Given the description of an element on the screen output the (x, y) to click on. 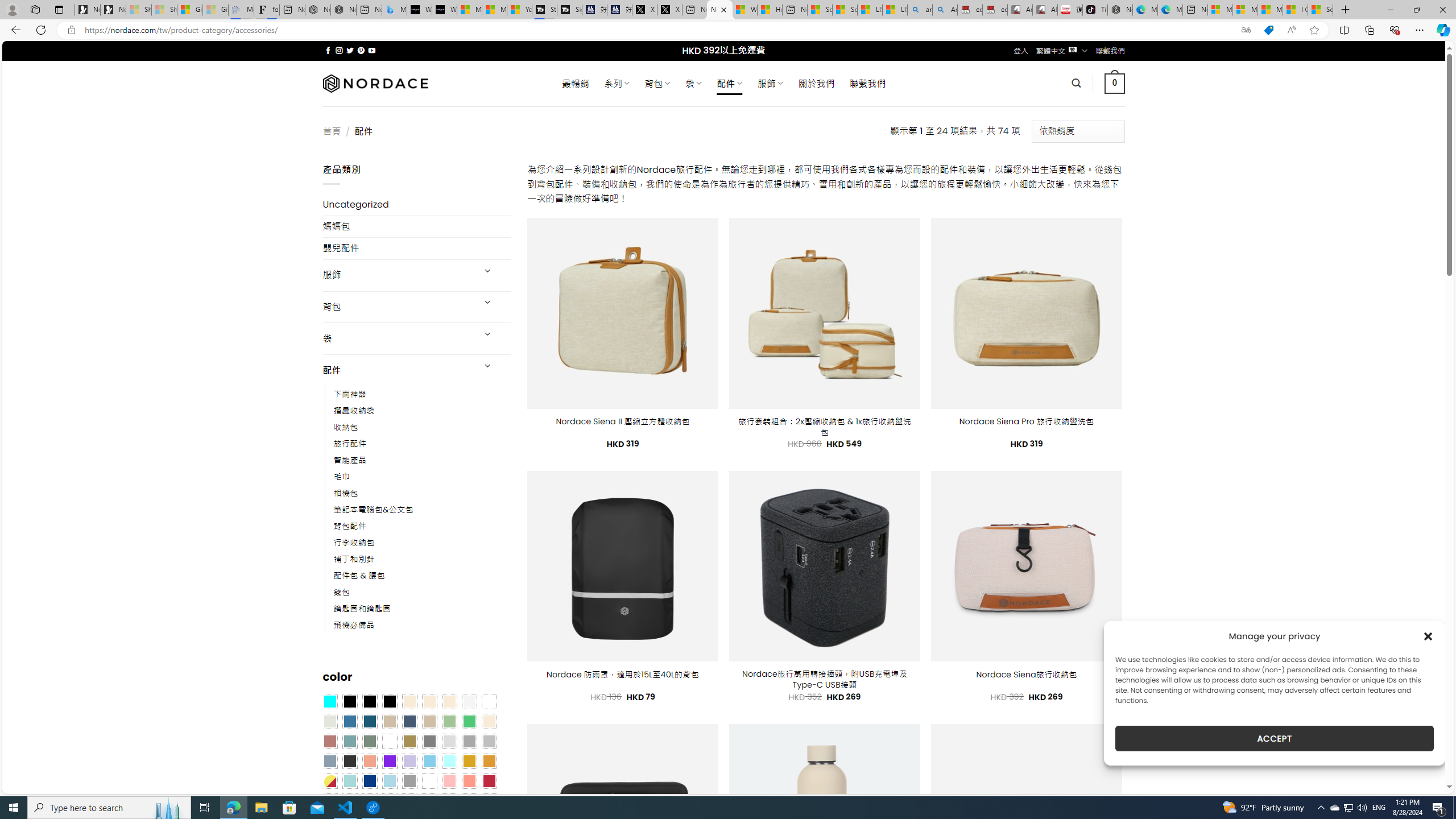
Uncategorized (416, 204)
